Given the description of an element on the screen output the (x, y) to click on. 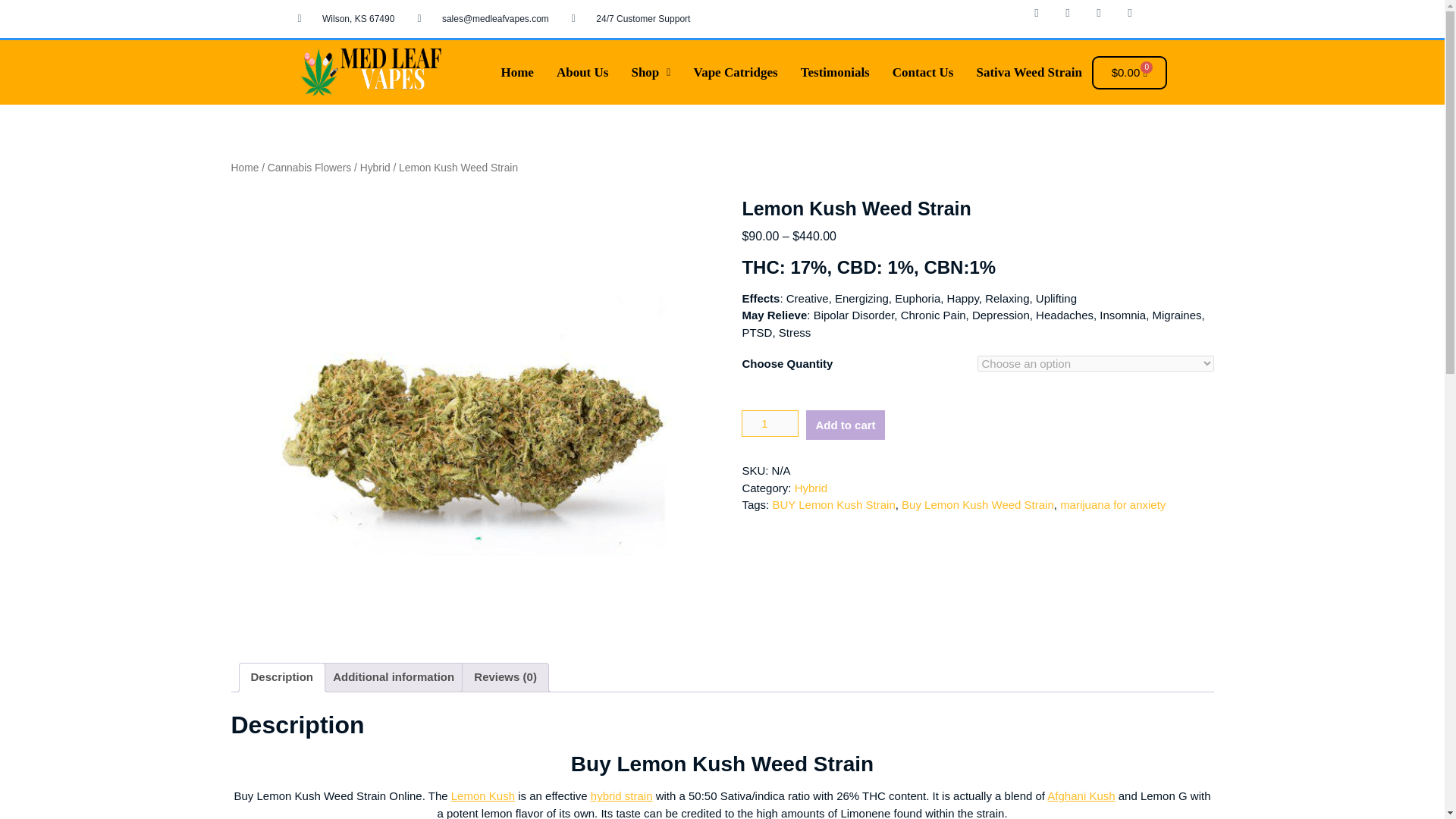
Cannabis Flowers (308, 167)
Description (281, 677)
Additional information (393, 677)
Hybrid (374, 167)
Home (516, 72)
Testimonials (834, 72)
Home (244, 167)
Contact Us (922, 72)
Add to cart (844, 424)
Lemon Kush (483, 795)
BUY Lemon Kush Strain (833, 504)
Sativa Weed Strain (1028, 72)
Vape Catridges (735, 72)
Shop (650, 72)
